Given the description of an element on the screen output the (x, y) to click on. 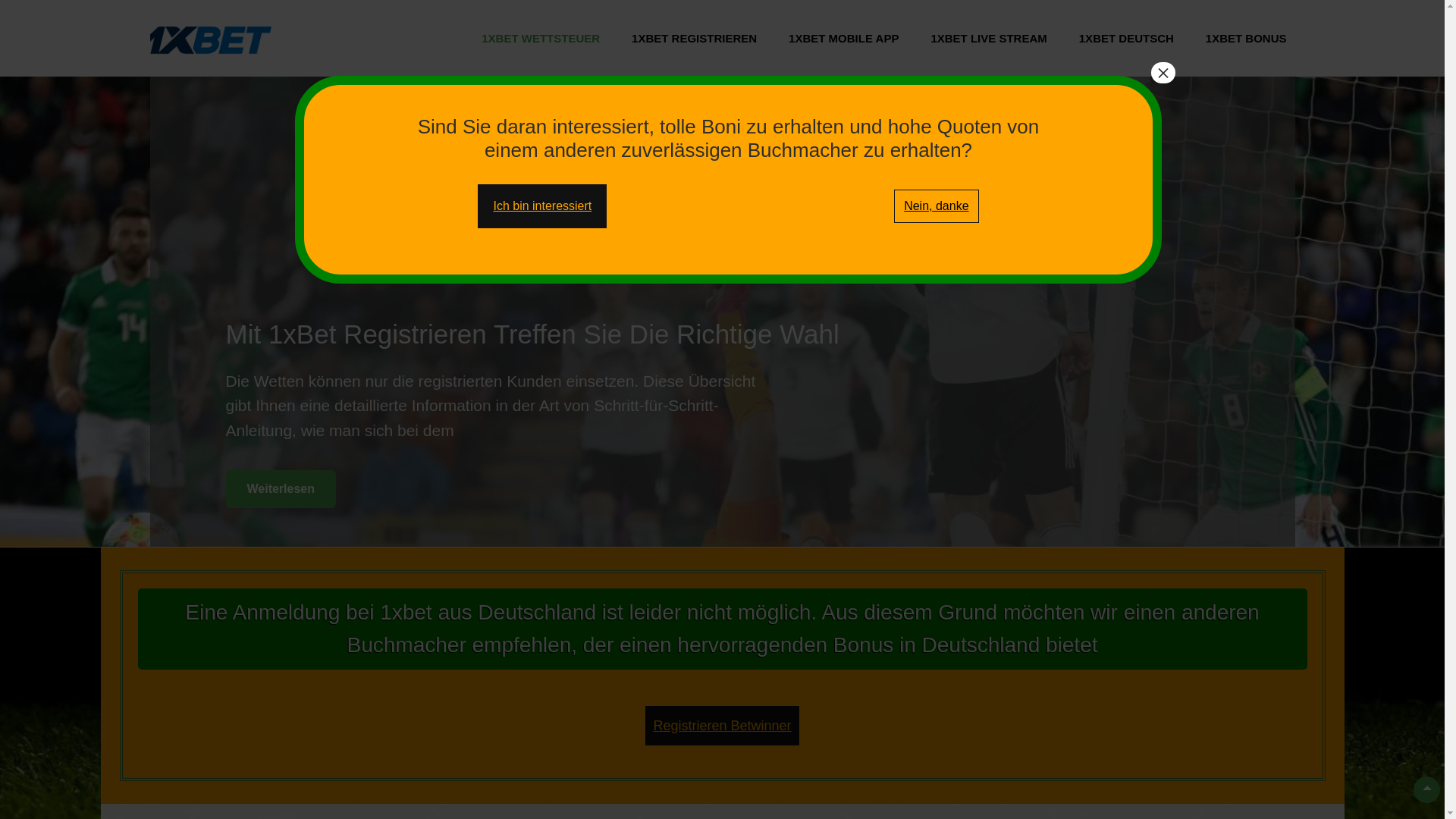
1xbet-Sportwetten.Com Element type: text (436, 57)
1XBET MOBILE APP Element type: text (843, 37)
1XBET LIVE STREAM Element type: text (988, 37)
Scroll Up Element type: text (1426, 789)
Ich bin interessiert Element type: text (541, 206)
Registrieren Betwinner Element type: text (721, 725)
1XBET REGISTRIEREN Element type: text (693, 37)
1XBET BONUS Element type: text (1245, 37)
Skip to content Element type: text (0, 0)
1XBET WETTSTEUER Element type: text (540, 37)
1XBET DEUTSCH Element type: text (1126, 37)
Mit 1xBet Registrieren Treffen Sie Die Richtige Wahl Element type: text (532, 333)
Nein, danke Element type: text (936, 205)
